Given the description of an element on the screen output the (x, y) to click on. 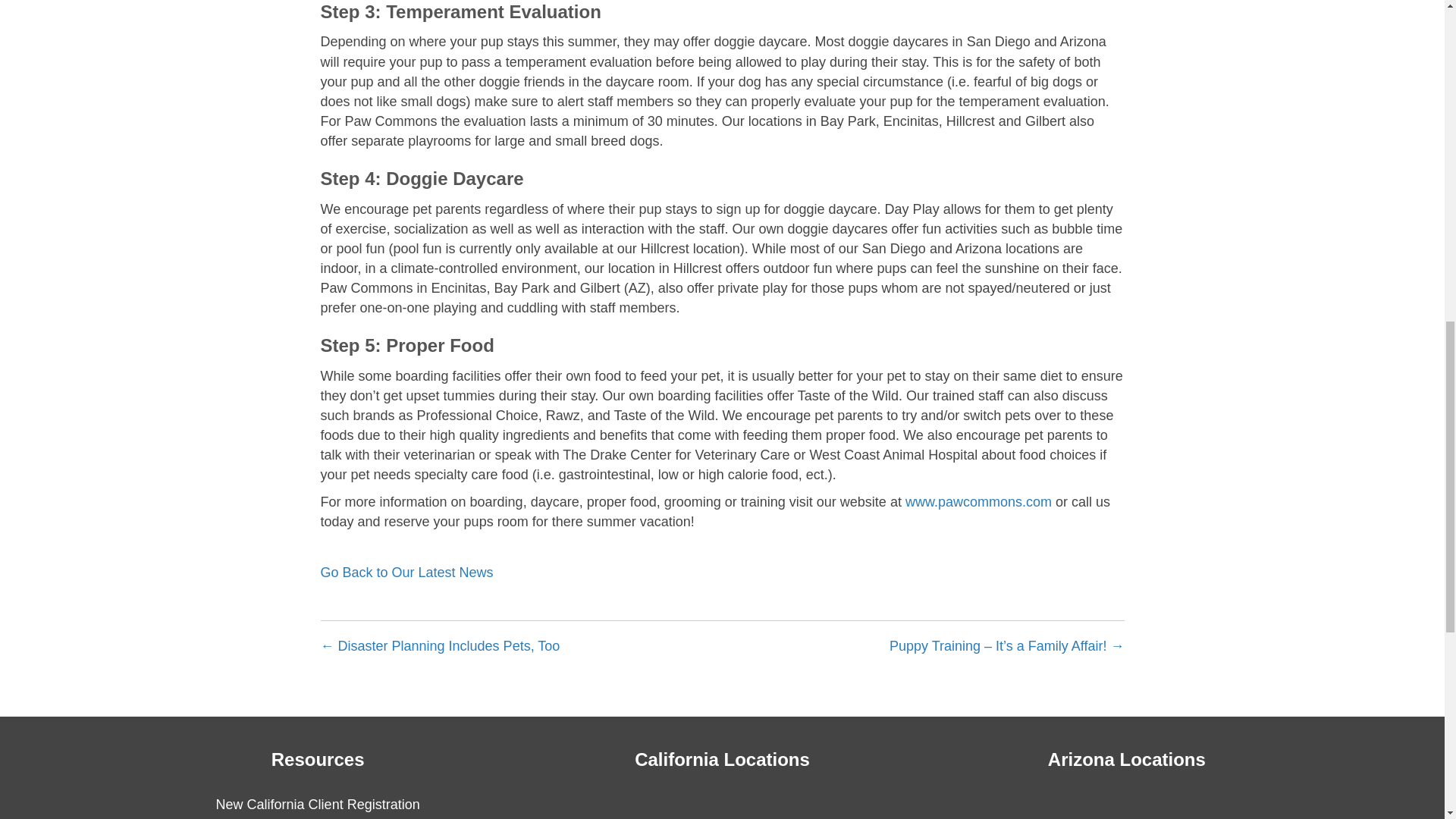
arizona-map (1126, 806)
Arizona Locations (1126, 759)
footer-california-map (721, 806)
California Locations (721, 759)
